Given the description of an element on the screen output the (x, y) to click on. 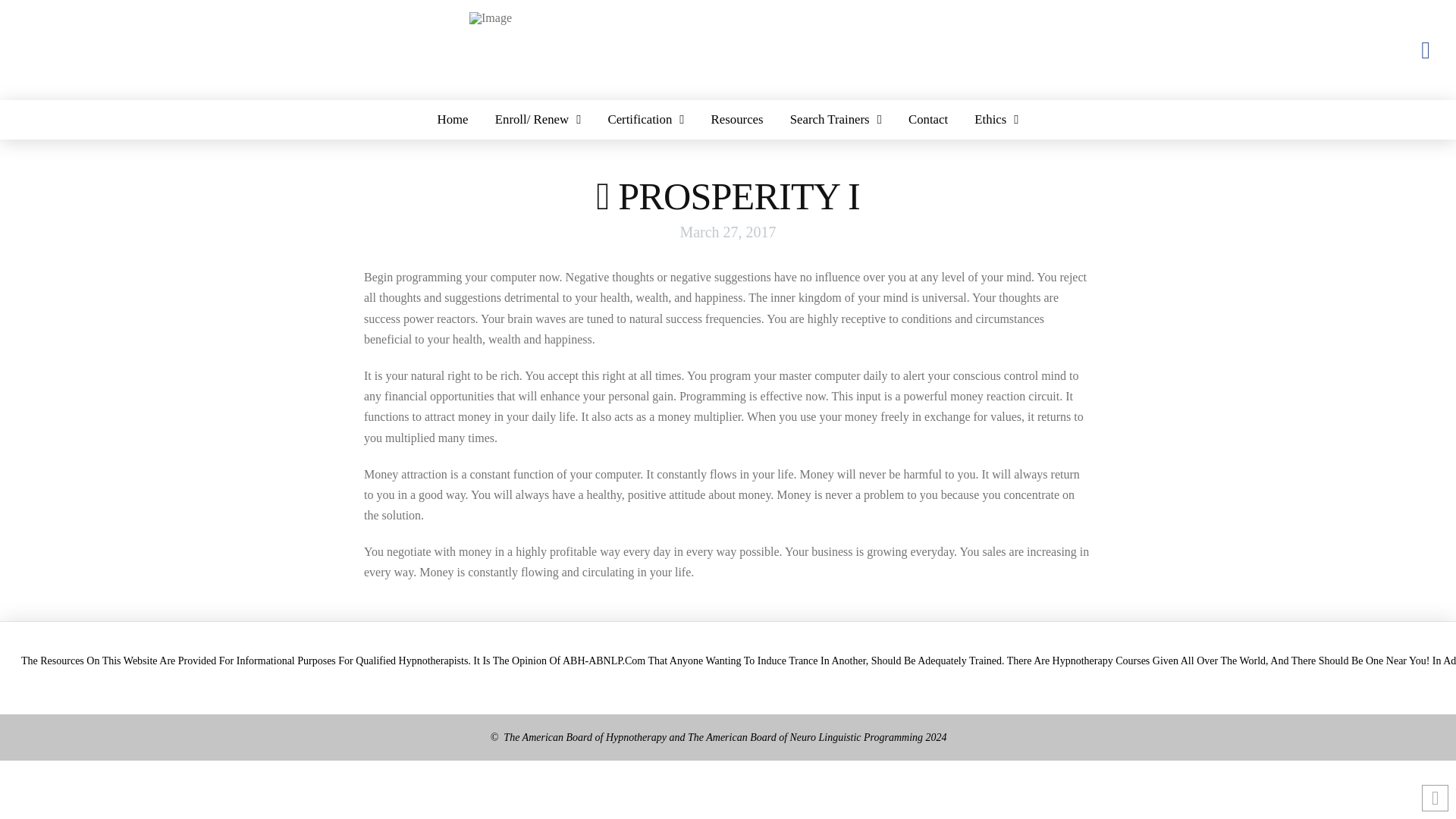
Resources (736, 119)
Certification (645, 119)
Ethics (996, 119)
Home (452, 119)
Back to Top (1435, 797)
Contact (927, 119)
Search Trainers (835, 119)
